Given the description of an element on the screen output the (x, y) to click on. 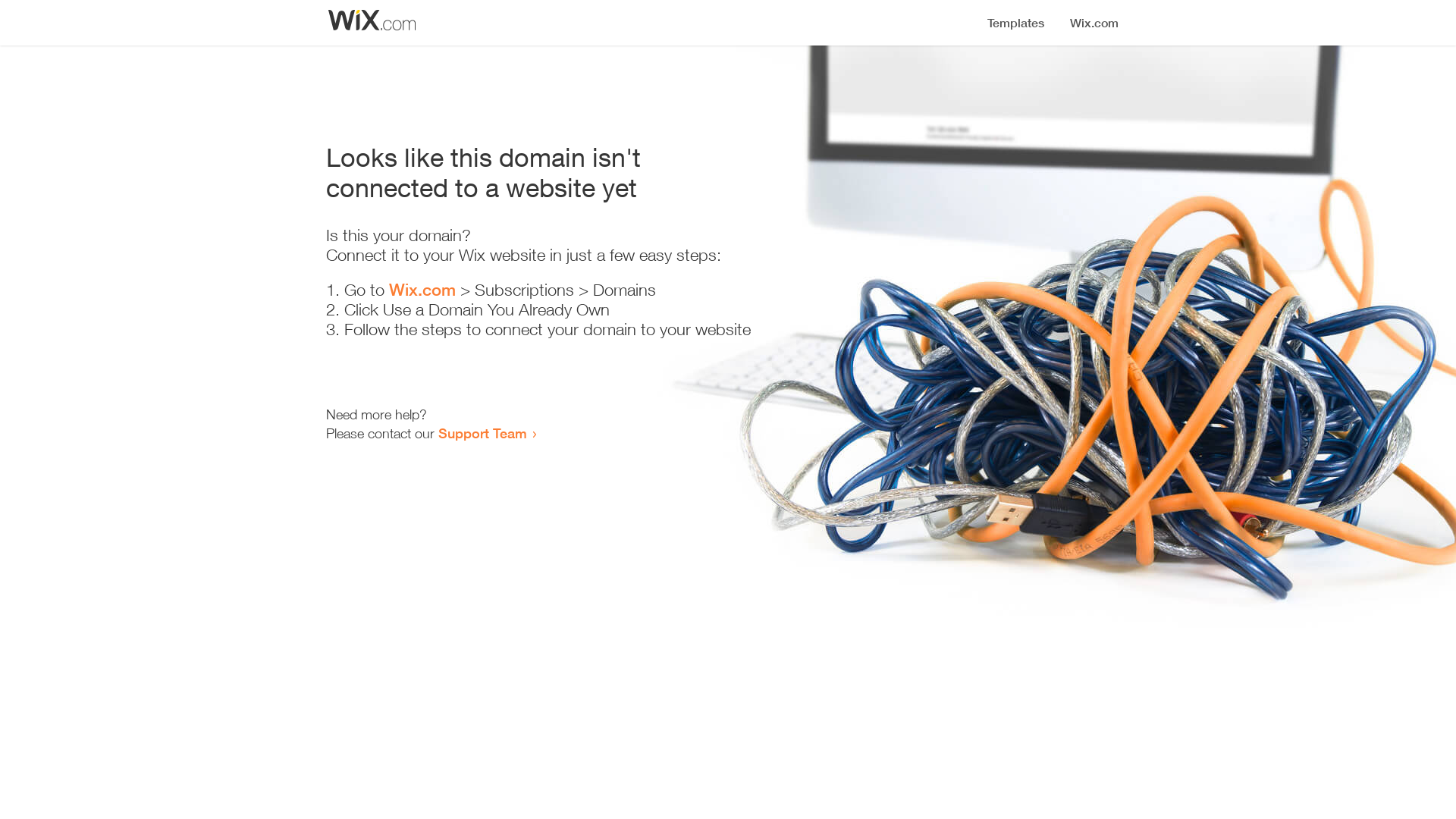
Support Team Element type: text (482, 432)
Wix.com Element type: text (422, 289)
